Given the description of an element on the screen output the (x, y) to click on. 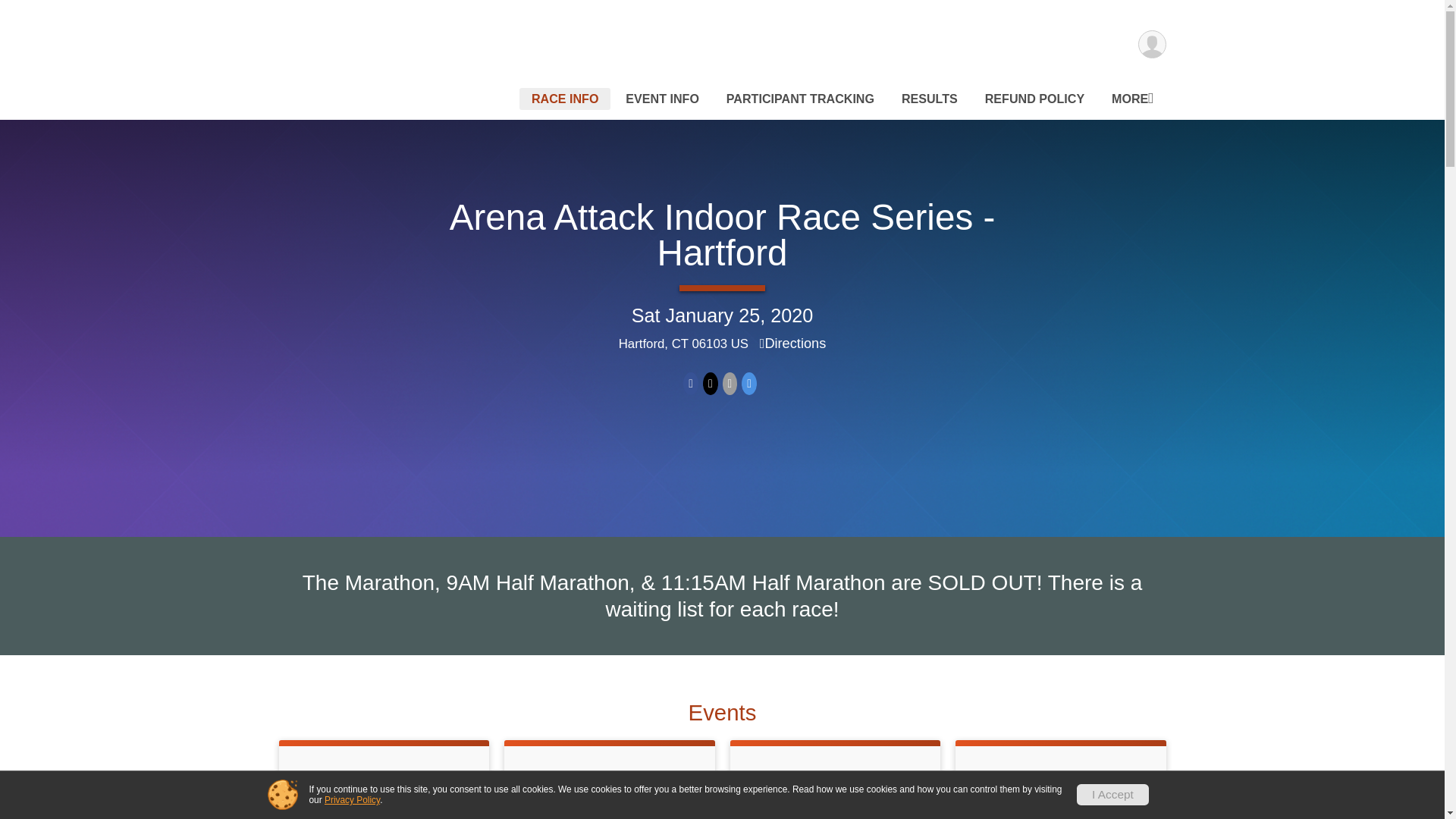
RACE INFO (565, 98)
Arena Attack Indoor Race Series - Hartford (722, 235)
Arena Attack 5k (383, 783)
Directions (793, 343)
PARTICIPANT TRACKING (800, 98)
Arena Attack - Marathon (609, 783)
MORE (1131, 98)
Arena Attack - Half Marathon-9AM Heat (834, 793)
REFUND POLICY (1034, 98)
EVENT INFO (661, 98)
